Given the description of an element on the screen output the (x, y) to click on. 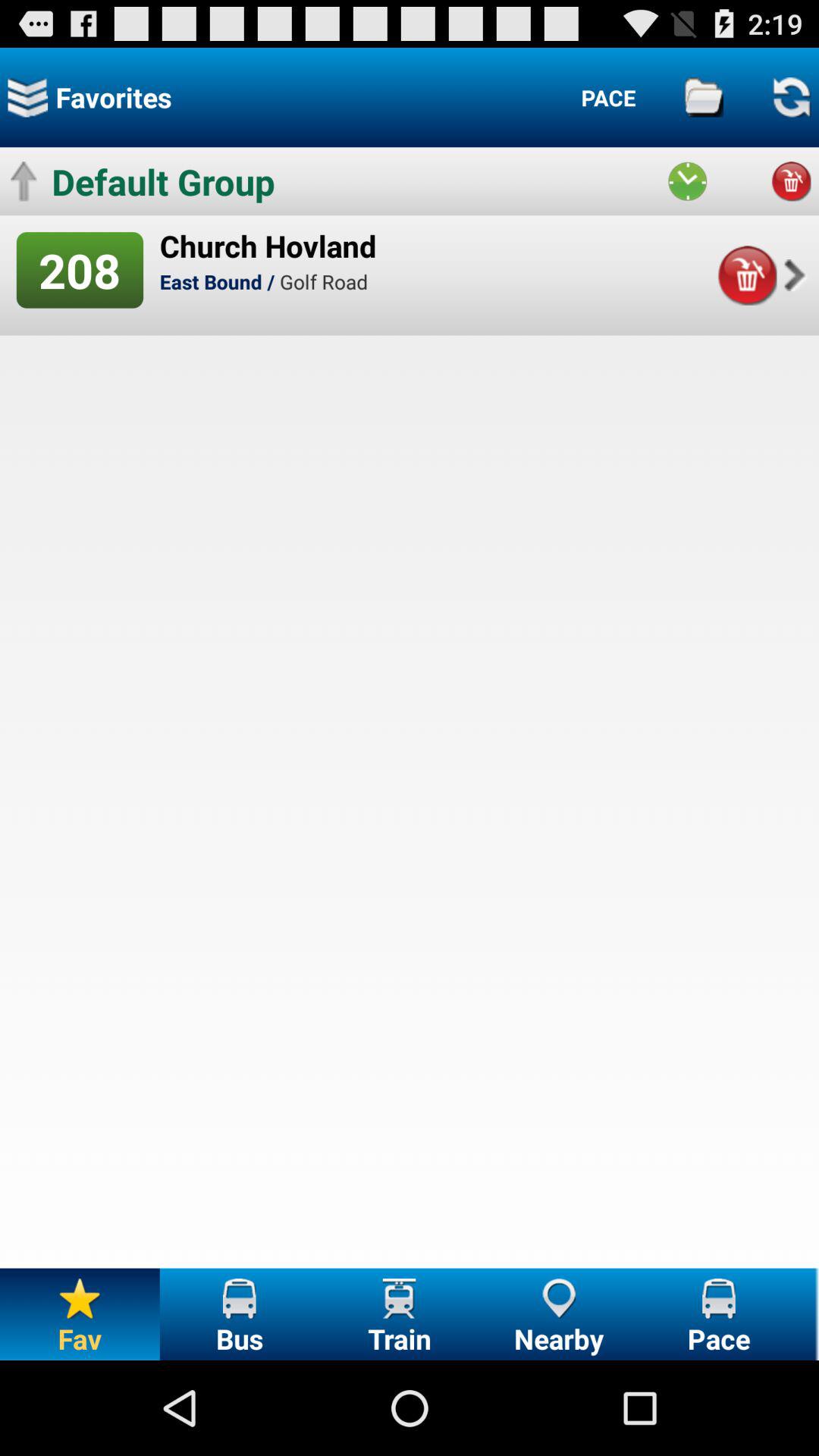
refresh site (791, 97)
